Given the description of an element on the screen output the (x, y) to click on. 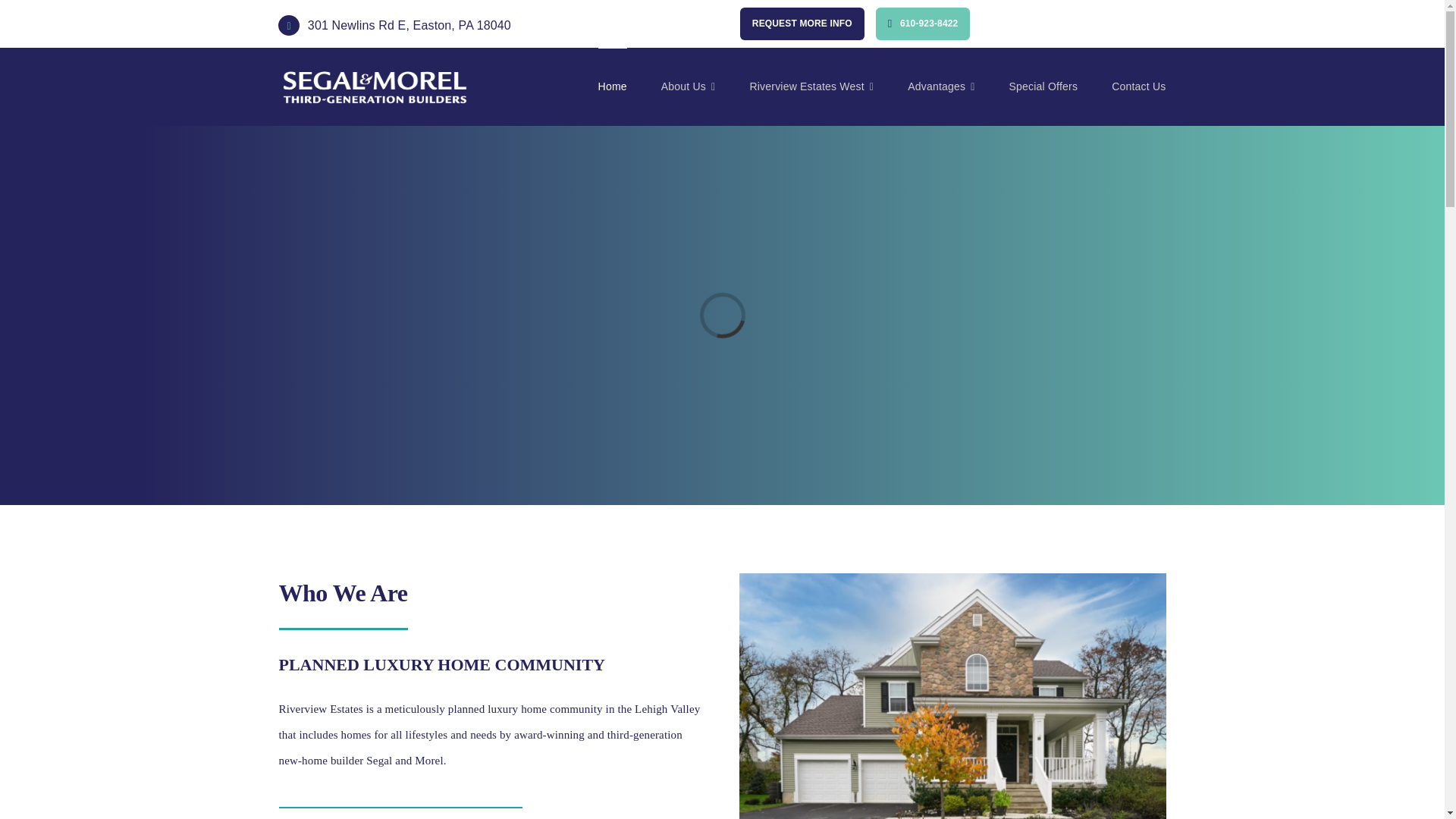
610-923-8422 (923, 23)
Riverview Estates West (811, 86)
benefits-of-living-in-a-luxury-home-community (952, 696)
REQUEST MORE INFO (801, 23)
